Given the description of an element on the screen output the (x, y) to click on. 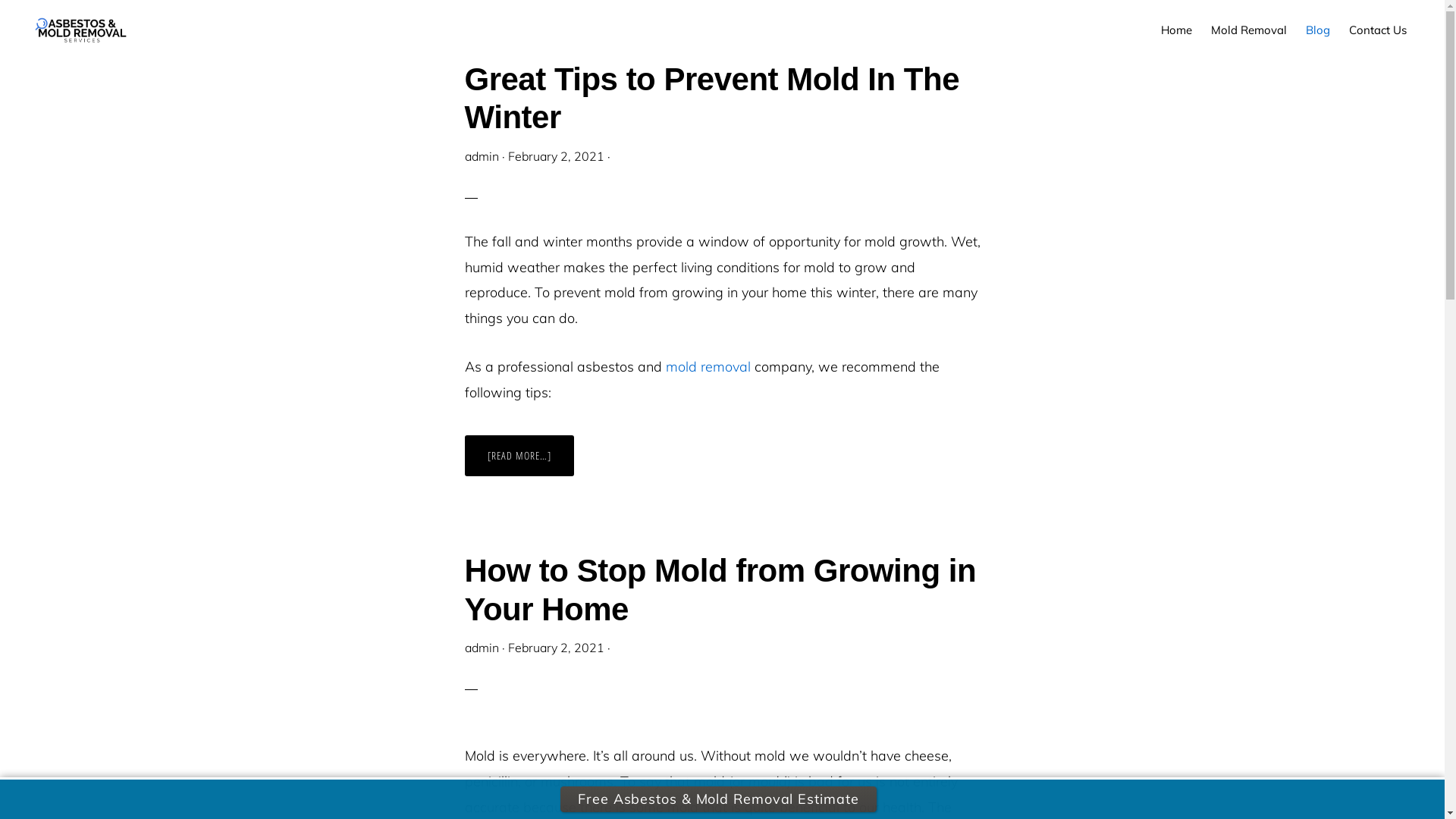
mold removal Element type: text (707, 366)
Privacy Policy Element type: text (929, 783)
admin Element type: text (481, 647)
Mold Removal Element type: text (1248, 29)
Skip to primary navigation Element type: text (0, 0)
Great Tips to Prevent Mold In The Winter Element type: text (711, 97)
admin Element type: text (481, 155)
Blog Element type: text (1317, 29)
How to Stop Mold from Growing in Your Home Element type: text (719, 589)
Contact Us Element type: text (1377, 29)
Home Element type: text (1176, 29)
